Given the description of an element on the screen output the (x, y) to click on. 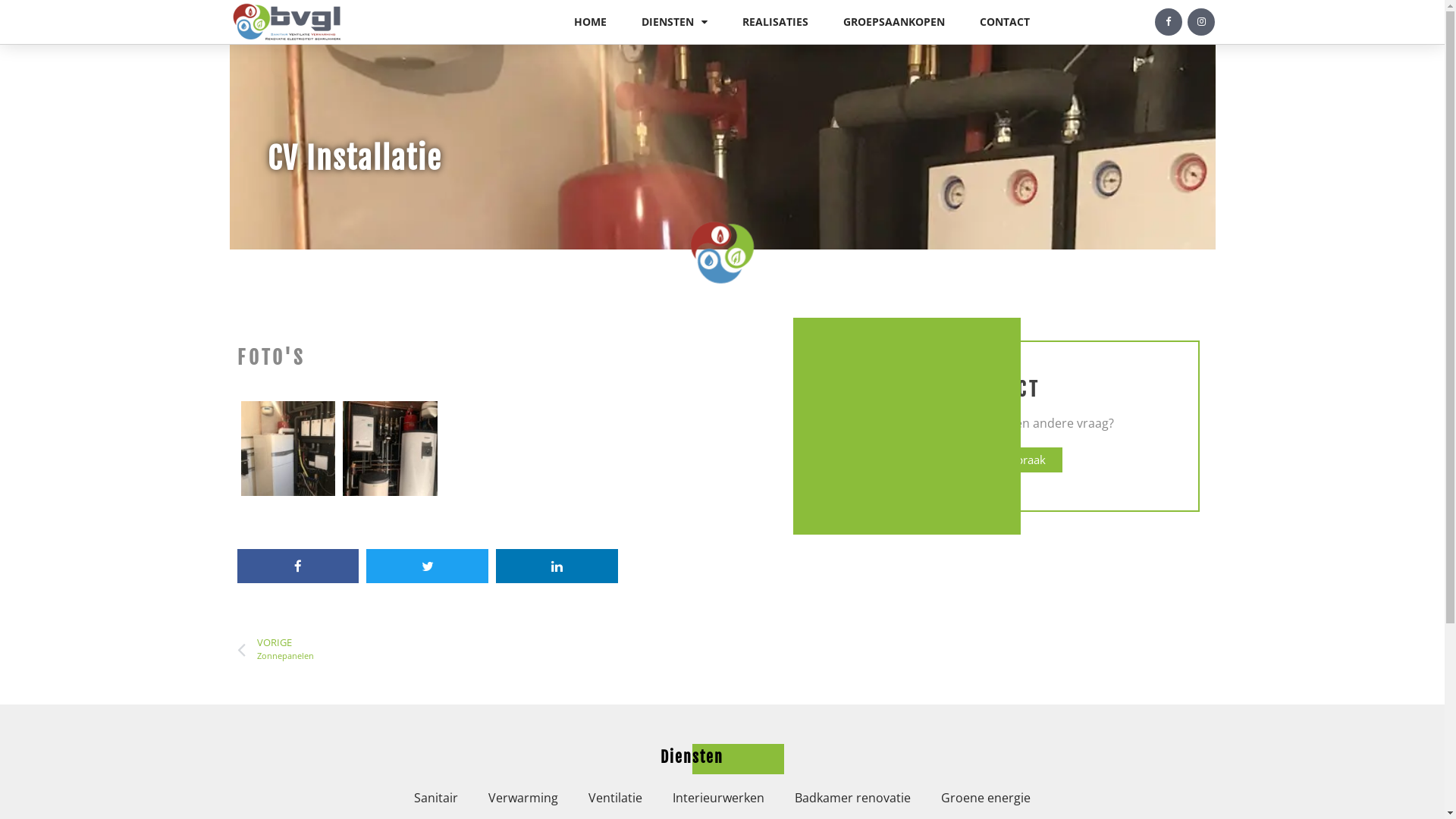
BVGL favicon Element type: hover (721, 253)
Groene energie Element type: text (985, 797)
VORIGE
Zonnepanelen Element type: text (478, 649)
CONTACT Element type: text (1004, 21)
BVGL logo Element type: hover (285, 21)
DIENSTEN Element type: text (674, 21)
Verwarming Element type: text (523, 797)
GROEPSAANKOPEN Element type: text (894, 21)
REALISATIES Element type: text (775, 21)
HOME Element type: text (589, 21)
Interieurwerken Element type: text (718, 797)
Badkamer renovatie Element type: text (852, 797)
Sanitair Element type: text (435, 797)
Maak een afspraak Element type: text (996, 459)
Ventilatie Element type: text (615, 797)
